Given the description of an element on the screen output the (x, y) to click on. 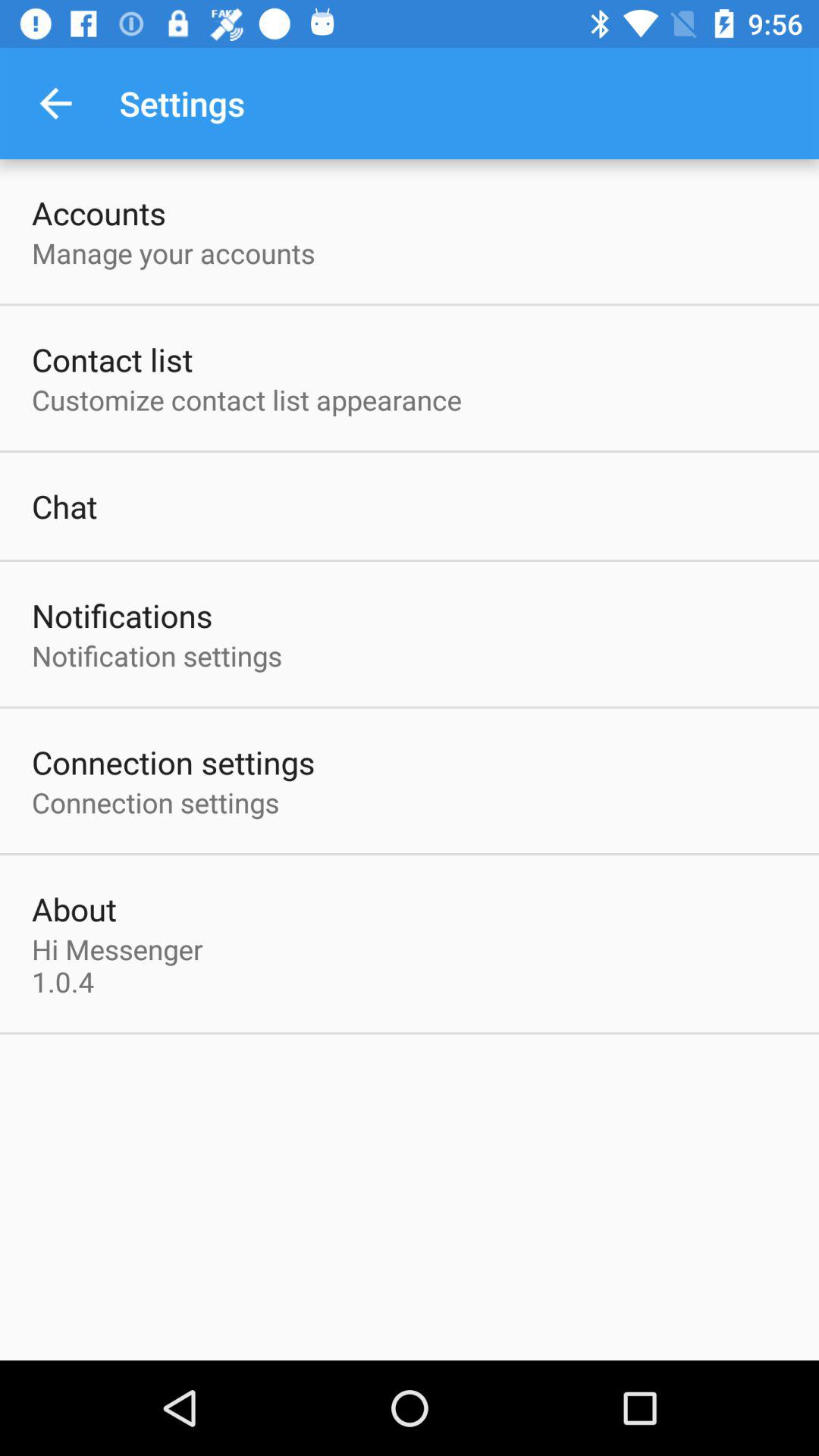
press the notification settings icon (156, 655)
